Given the description of an element on the screen output the (x, y) to click on. 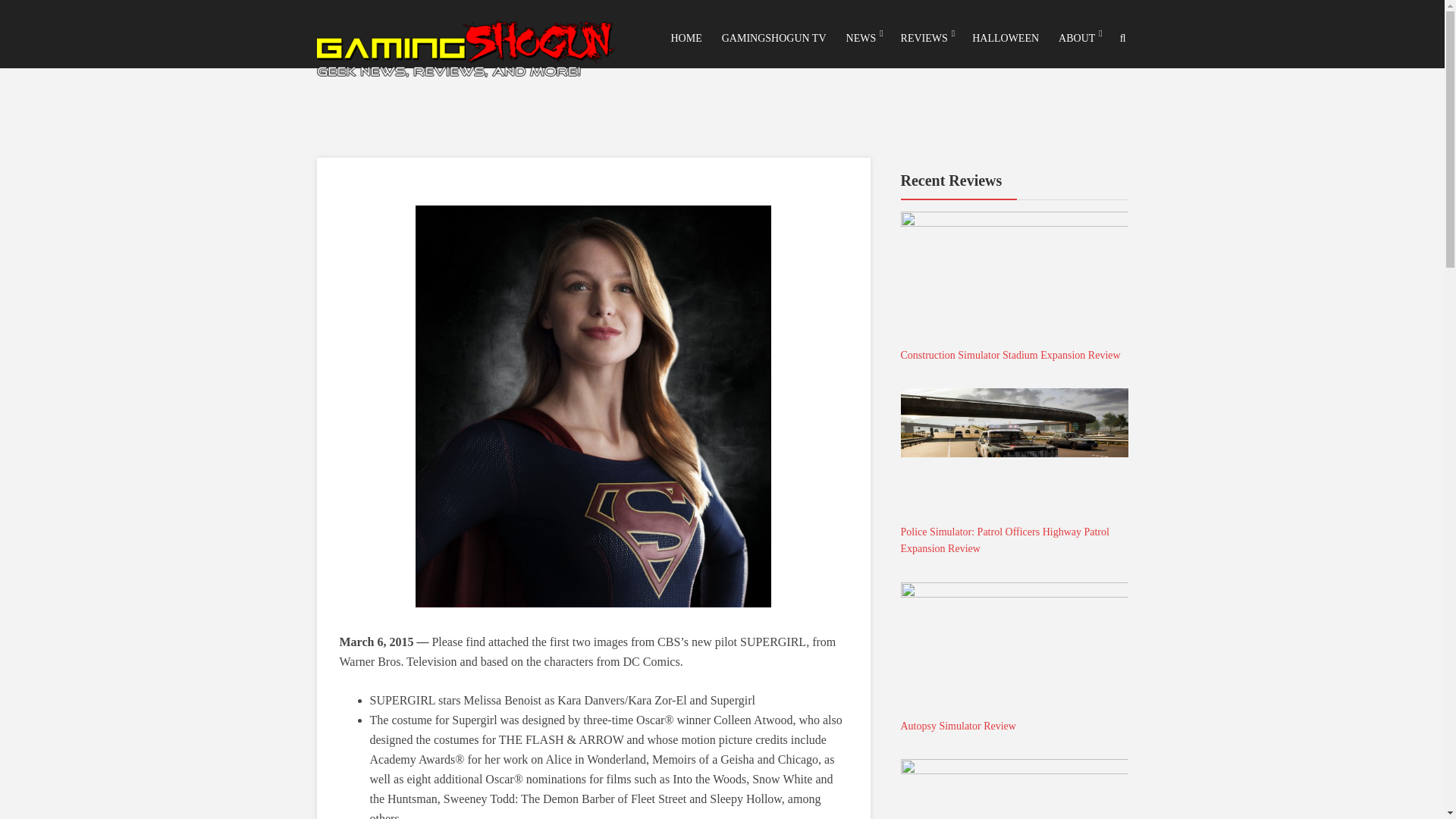
HALLOWEEN (1005, 38)
GAMINGSHOGUN TV (773, 38)
Horror and Halloween News (1005, 38)
GamingShogun (467, 44)
